Given the description of an element on the screen output the (x, y) to click on. 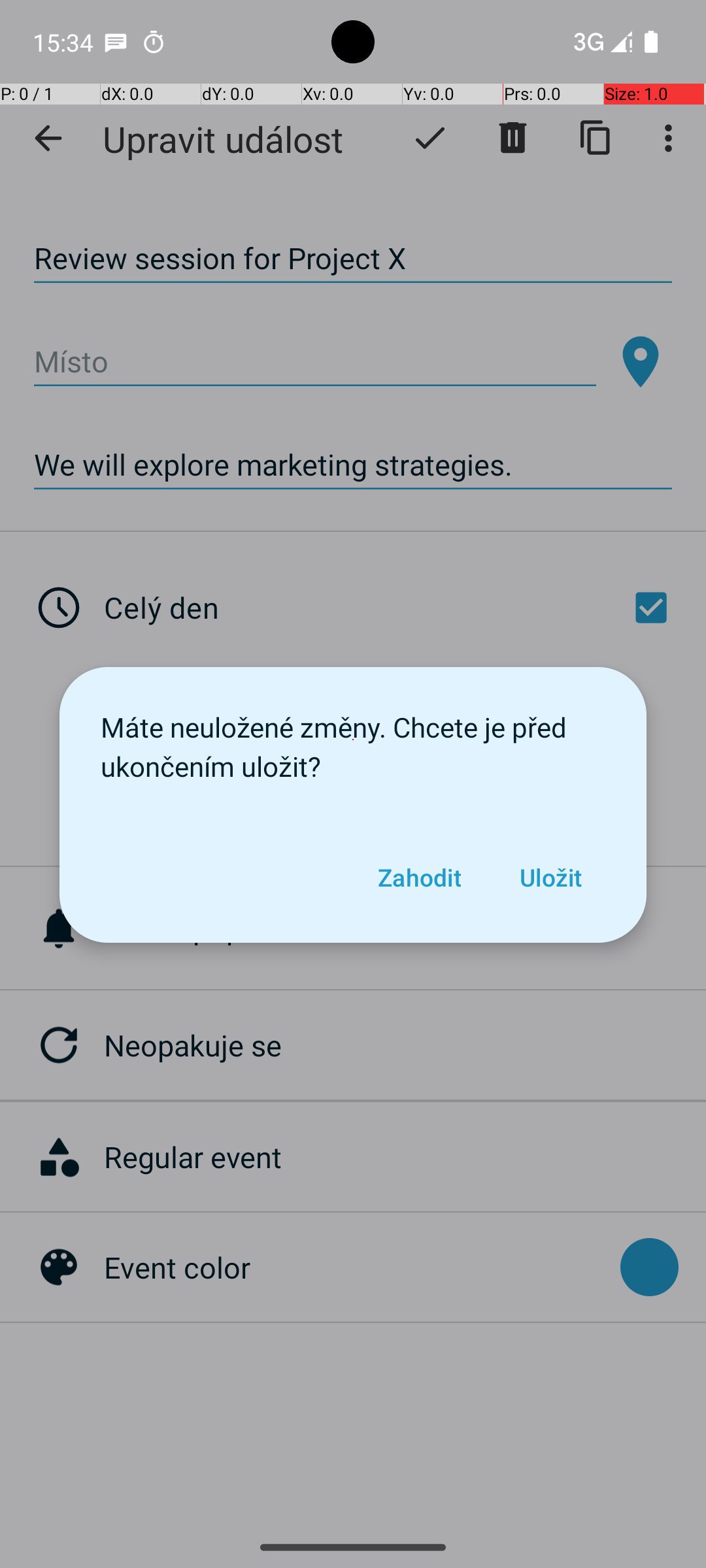
Máte neuložené změny. Chcete je před ukončením uložit? Element type: android.widget.TextView (352, 739)
Zahodit Element type: android.widget.Button (418, 877)
Uložit Element type: android.widget.Button (550, 877)
